Given the description of an element on the screen output the (x, y) to click on. 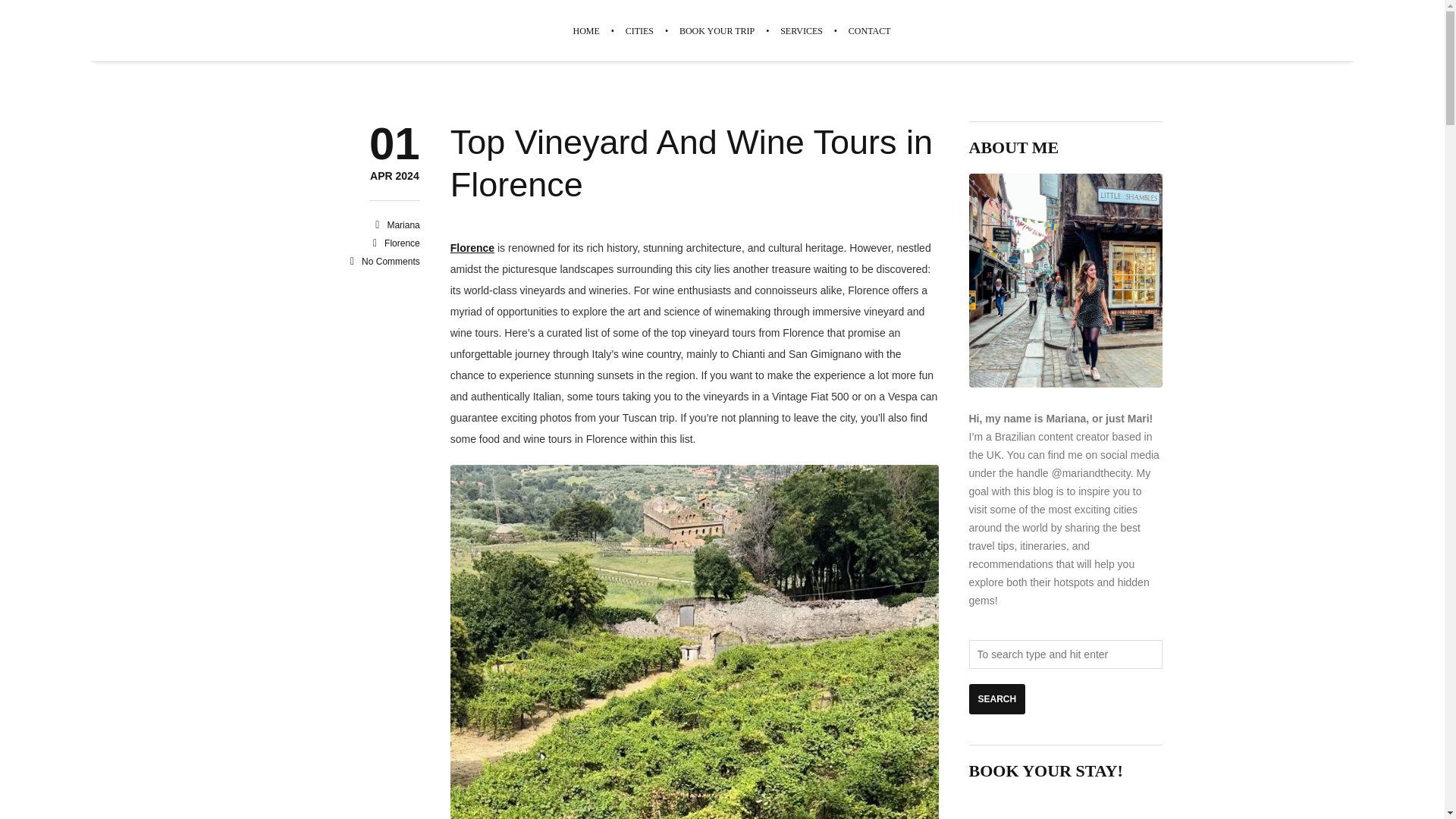
Search (997, 698)
Posts by mariana (403, 225)
Search for: (1065, 654)
SERVICES (801, 30)
BOOK YOUR TRIP (716, 30)
Search (997, 698)
